Given the description of an element on the screen output the (x, y) to click on. 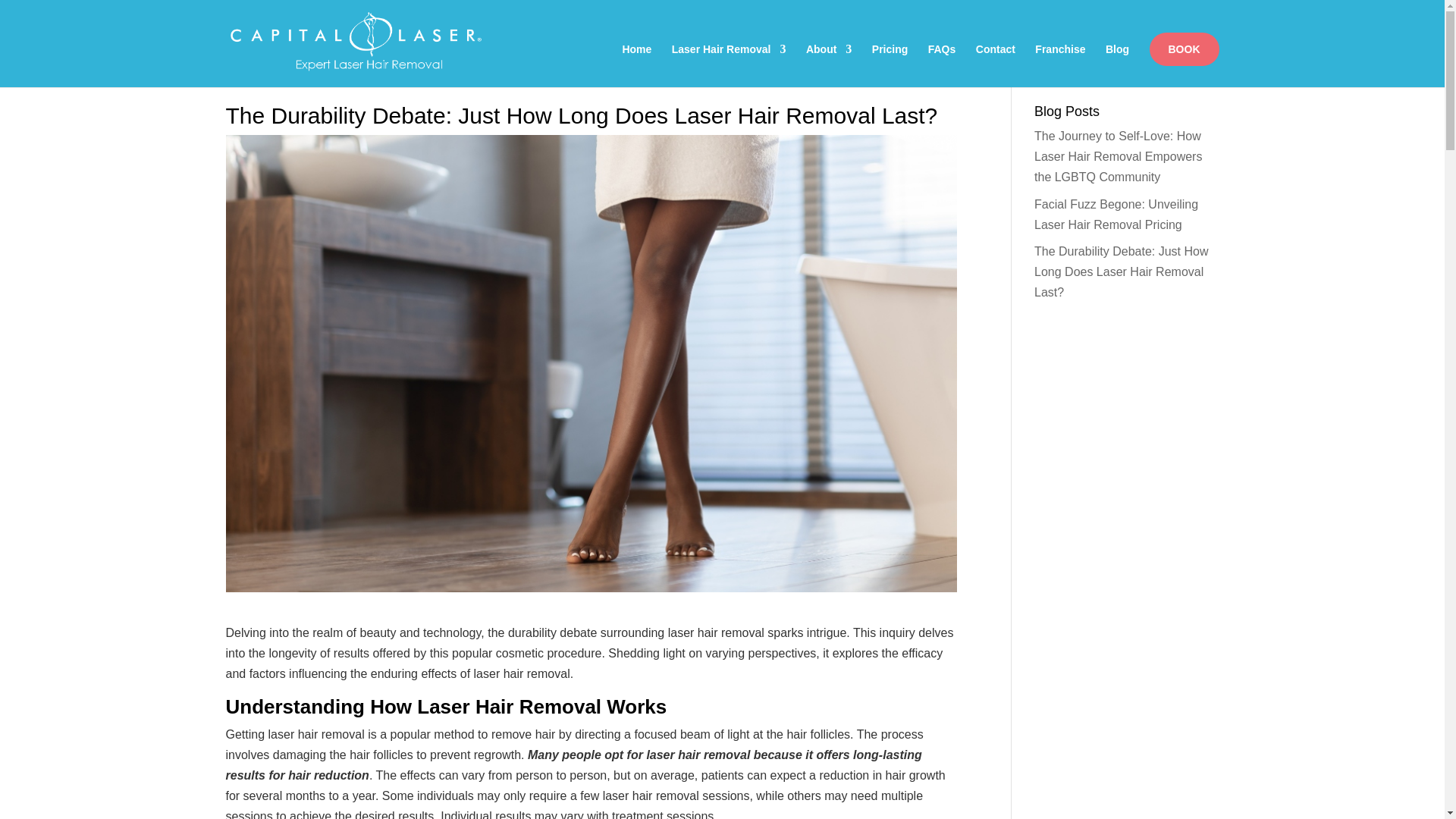
Contact (994, 65)
Franchise (1059, 65)
Laser Hair Removal (728, 65)
BOOK (1185, 49)
About (828, 65)
